Given the description of an element on the screen output the (x, y) to click on. 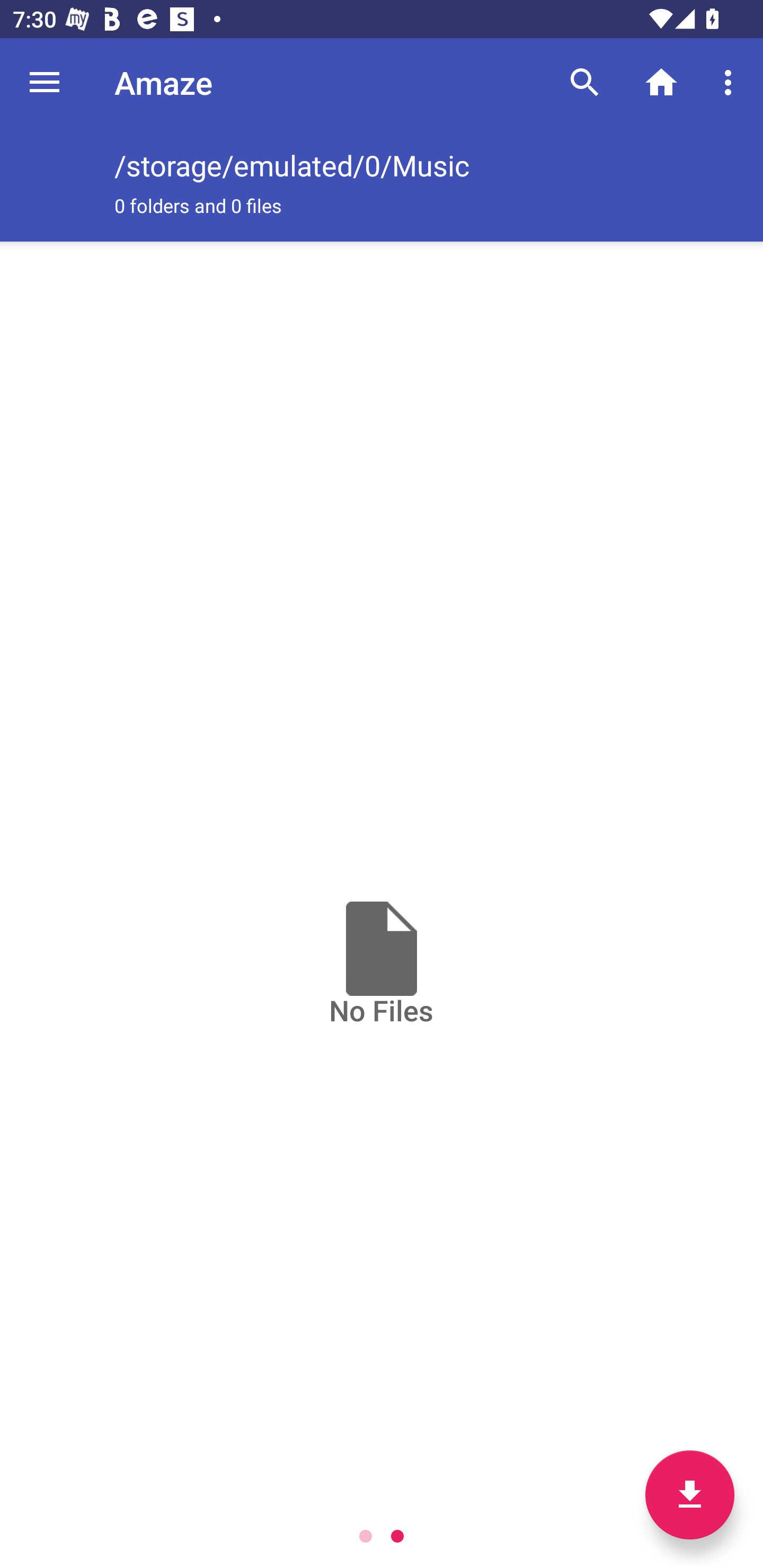
Navigate up (44, 82)
Search (585, 81)
Home (661, 81)
More options (731, 81)
